Given the description of an element on the screen output the (x, y) to click on. 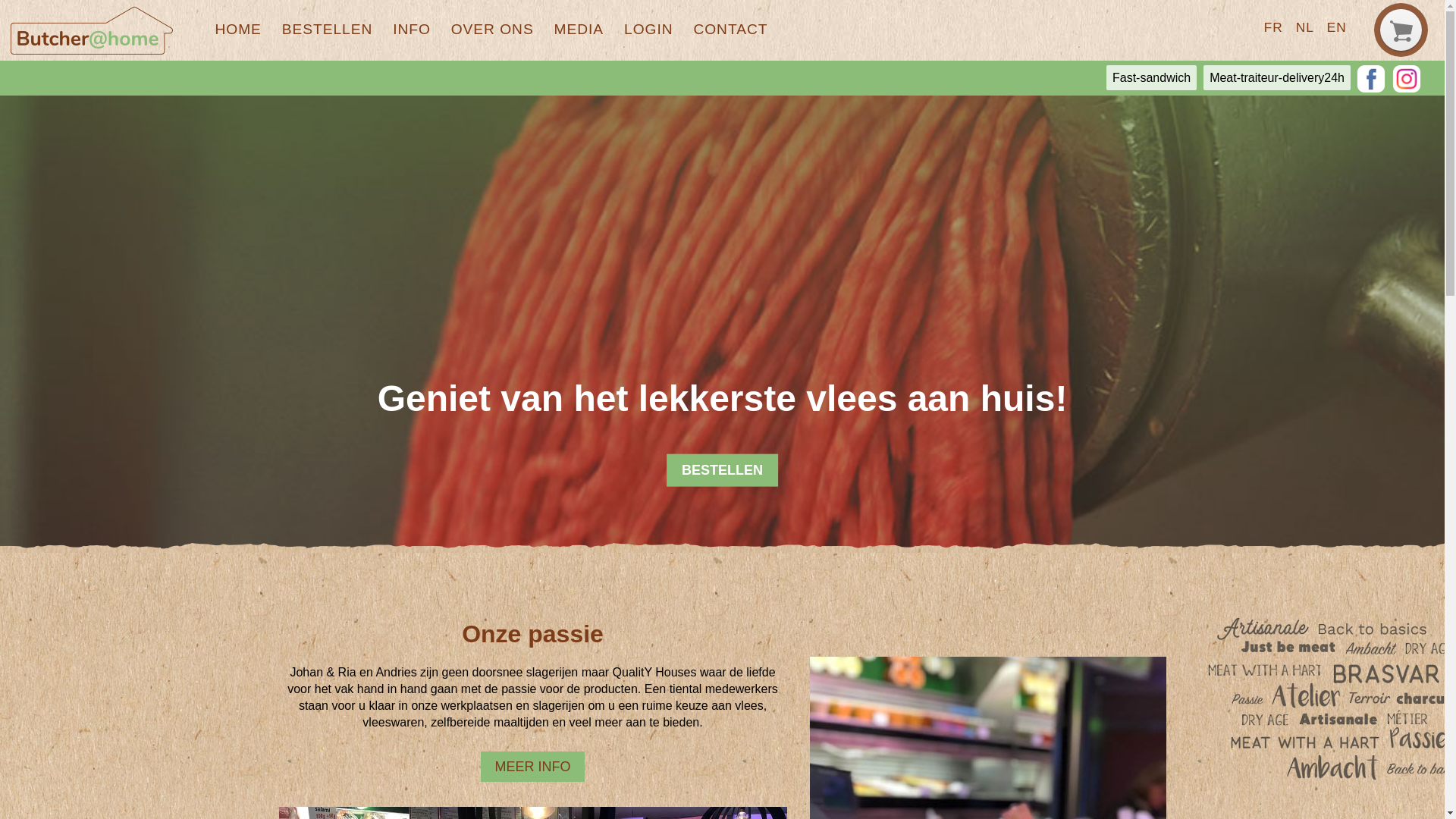
Meat-traiteur-delivery24h Element type: text (1275, 77)
BESTELLEN Element type: text (326, 29)
CONTACT Element type: text (730, 29)
HOME Element type: text (237, 29)
Fast-sandwich Element type: text (1150, 77)
BESTELLEN Element type: text (722, 470)
MEER INFO Element type: text (531, 766)
INFO Element type: text (411, 29)
FR Element type: text (1273, 26)
LOGIN Element type: text (648, 29)
EN Element type: text (1336, 26)
MEDIA Element type: text (578, 29)
OVER ONS Element type: text (491, 29)
NL Element type: text (1304, 26)
